Given the description of an element on the screen output the (x, y) to click on. 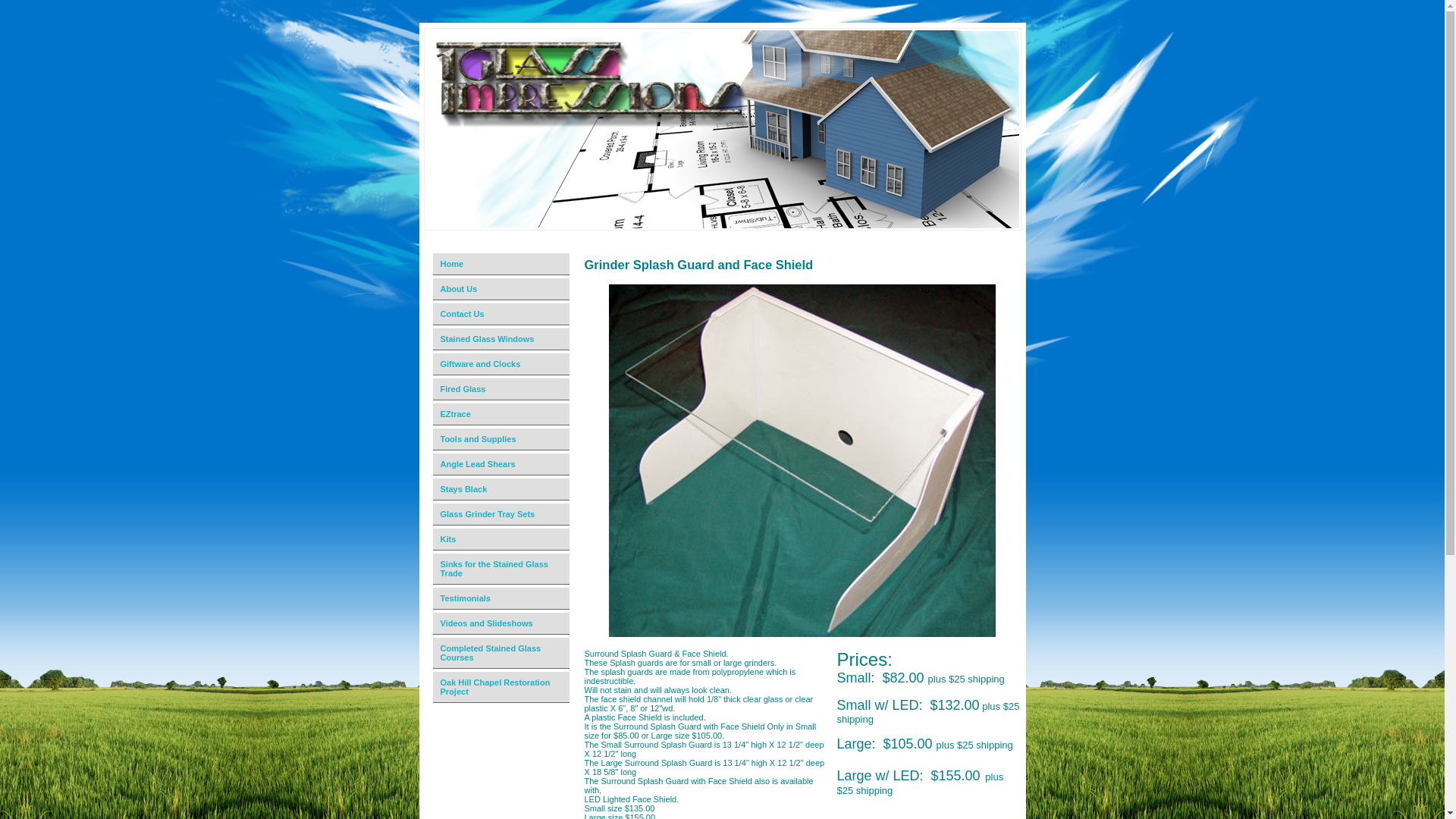
Testimonials Element type: text (501, 598)
Tools and Supplies Element type: text (501, 439)
Stays Black Element type: text (501, 489)
Glass Grinder Tray Sets Element type: text (501, 514)
Videos and Slideshows Element type: text (501, 623)
Giftware and Clocks Element type: text (501, 364)
Oak Hill Chapel Restoration Project Element type: text (501, 686)
Fired Glass Element type: text (501, 389)
Contact Us Element type: text (501, 314)
EZtrace Element type: text (501, 414)
Completed Stained Glass Courses Element type: text (501, 652)
Angle Lead Shears Element type: text (501, 464)
Kits Element type: text (501, 539)
Home Element type: text (501, 264)
About Us Element type: text (501, 289)
Stained Glass Windows Element type: text (501, 339)
Sinks for the Stained Glass Trade Element type: text (501, 568)
